Given the description of an element on the screen output the (x, y) to click on. 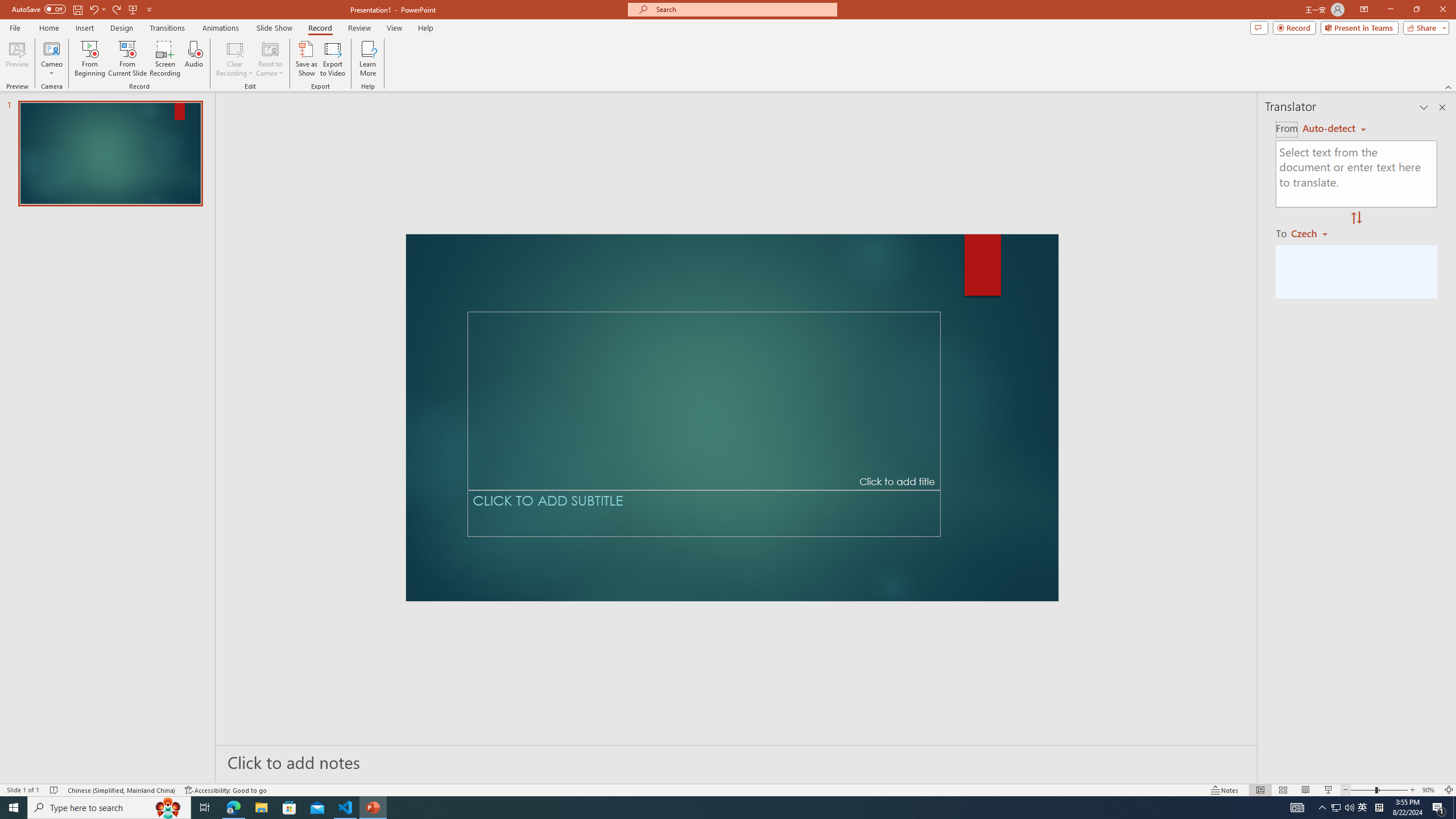
Cameo (51, 48)
Title TextBox (703, 401)
Microsoft search (742, 9)
Czech (1313, 232)
